Given the description of an element on the screen output the (x, y) to click on. 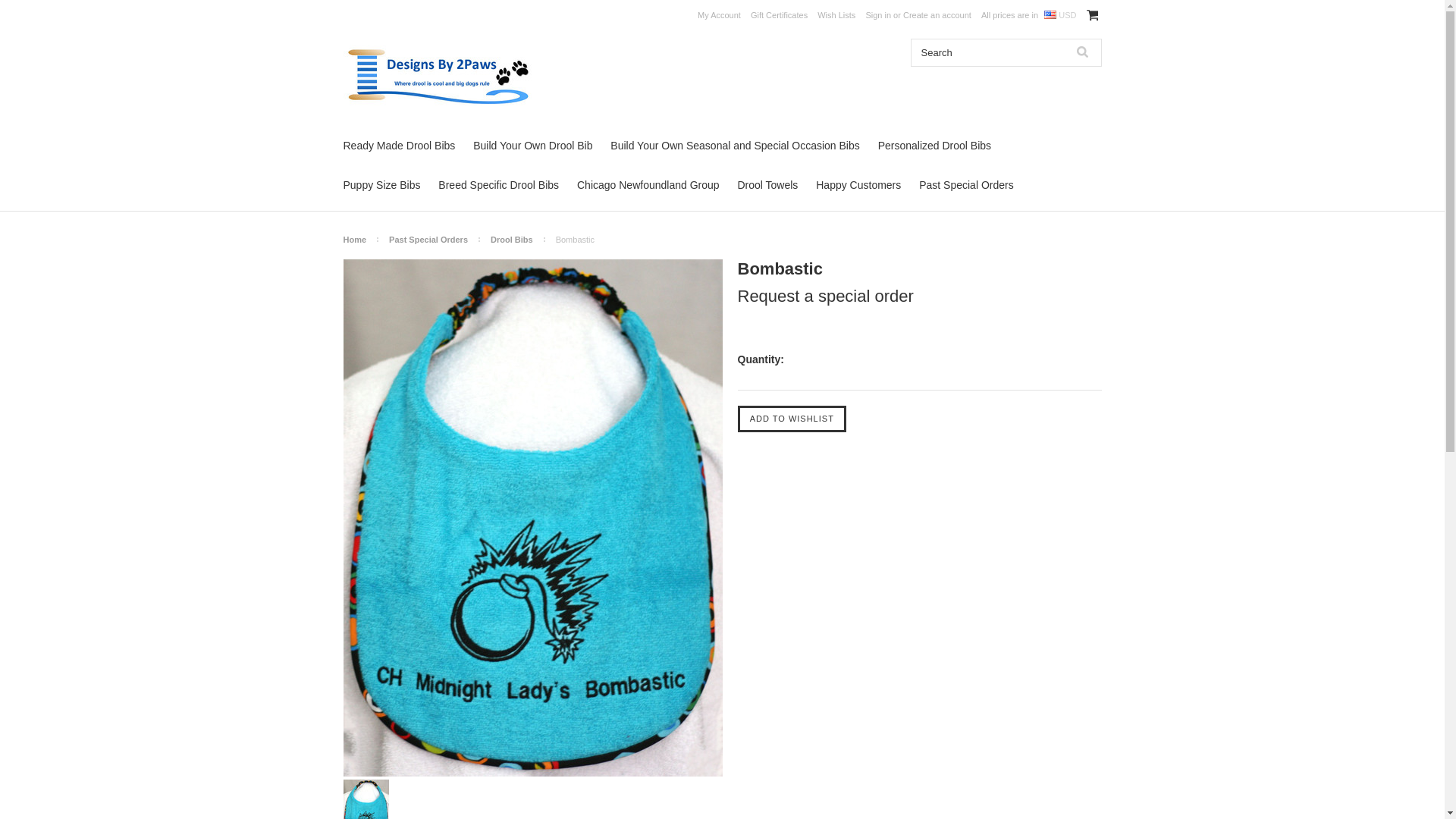
Add to Wishlist (790, 418)
Create an account (936, 14)
Gift Certificates (779, 14)
Search (986, 52)
Image 1 (365, 797)
Search (1081, 52)
Add to Wishlist (790, 418)
My Account (719, 14)
Wish Lists (836, 14)
Sign in (877, 14)
